Given the description of an element on the screen output the (x, y) to click on. 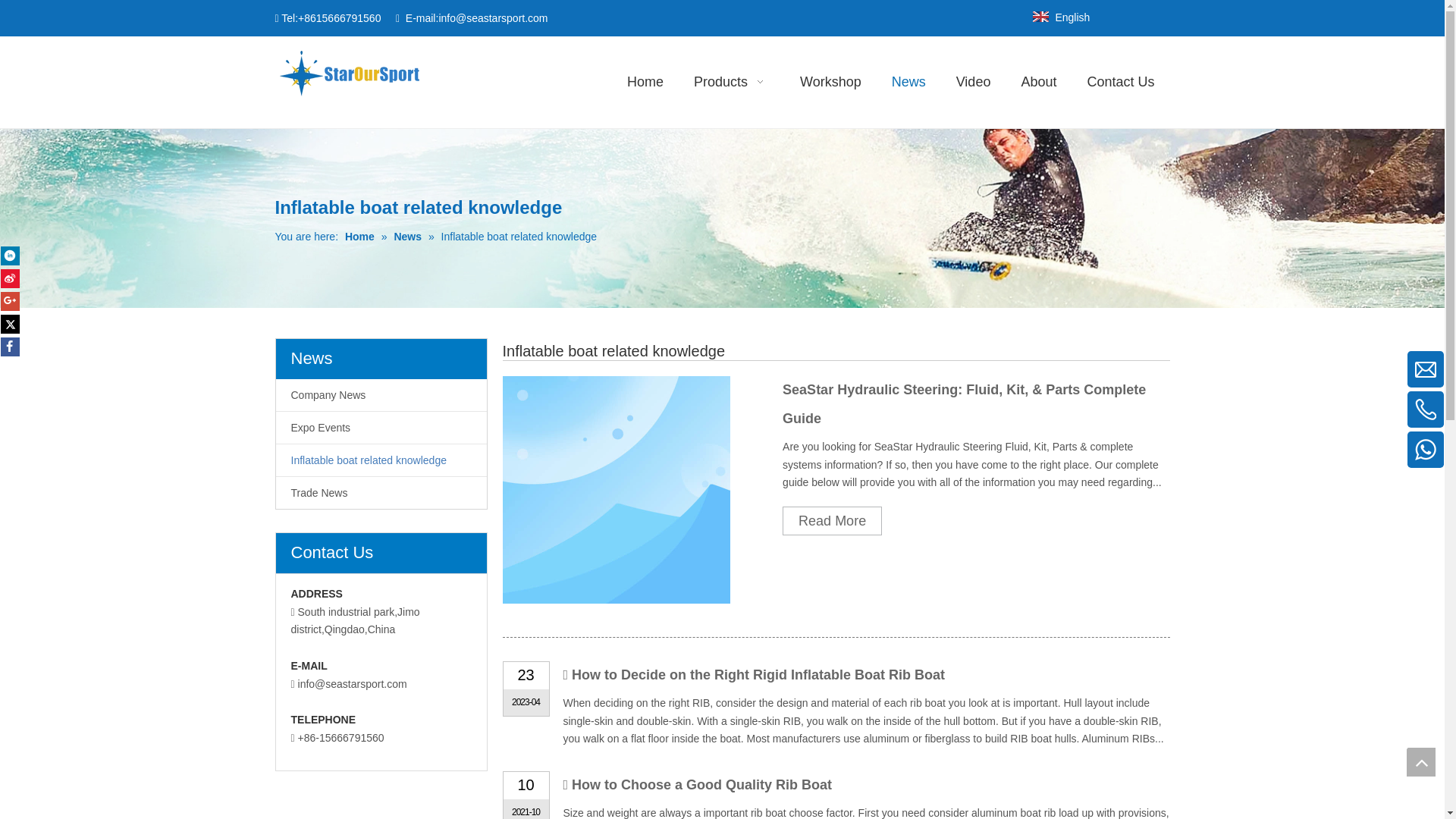
Contact Us (1120, 81)
English (1060, 18)
Video (973, 81)
Workshop (830, 81)
How to Choose a Good Quality Rib Boat (701, 784)
News (908, 79)
Trade News (381, 492)
logo (348, 72)
About (1038, 81)
Inflatable boat related knowledge (381, 459)
Expo Events (381, 427)
Products   (731, 81)
Company News (381, 395)
Home (644, 81)
How to Decide on the Right Rigid Inflatable Boat Rib Boat (758, 674)
